Given the description of an element on the screen output the (x, y) to click on. 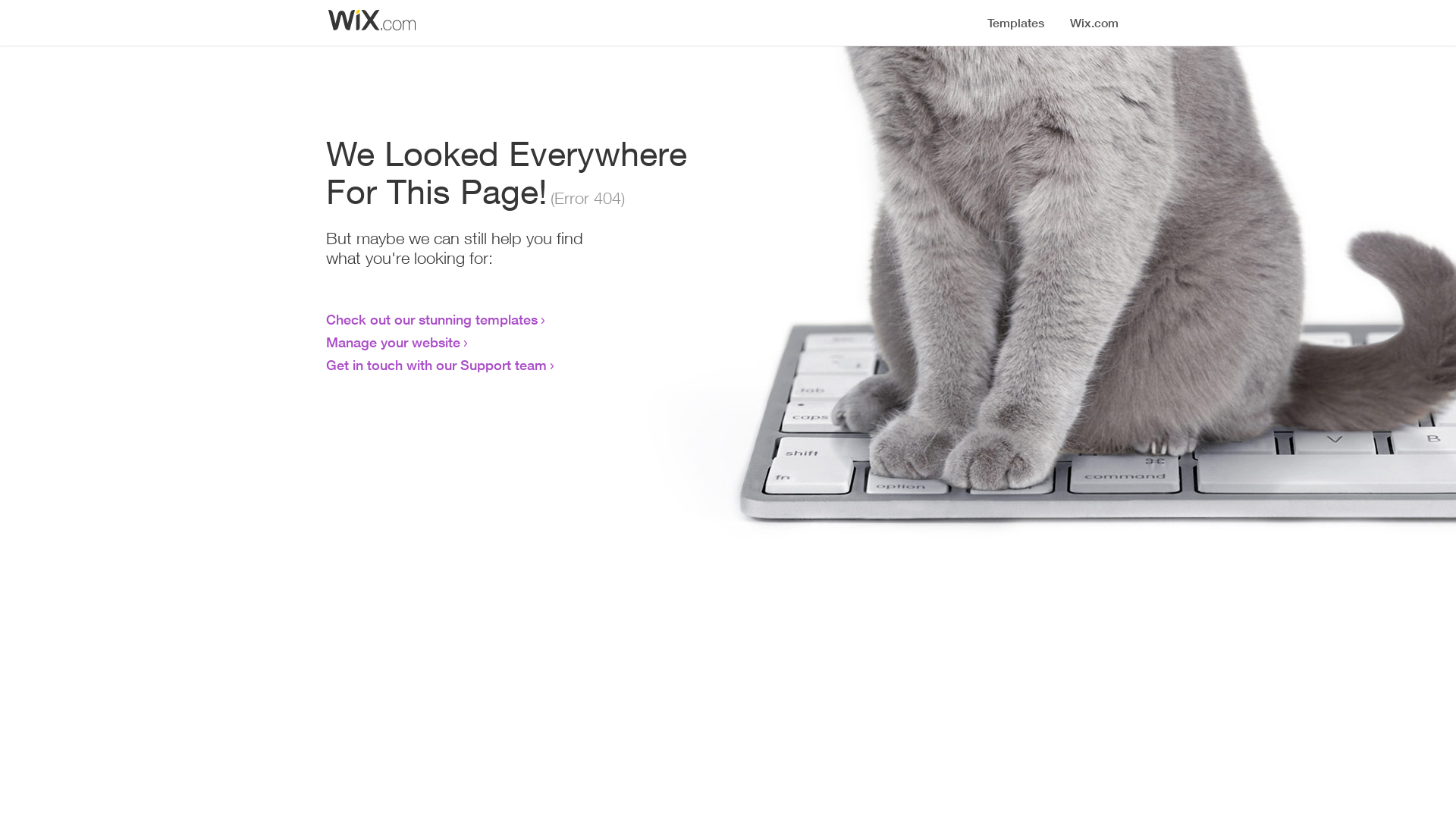
Check out our stunning templates Element type: text (431, 318)
Manage your website Element type: text (393, 341)
Get in touch with our Support team Element type: text (436, 364)
